Given the description of an element on the screen output the (x, y) to click on. 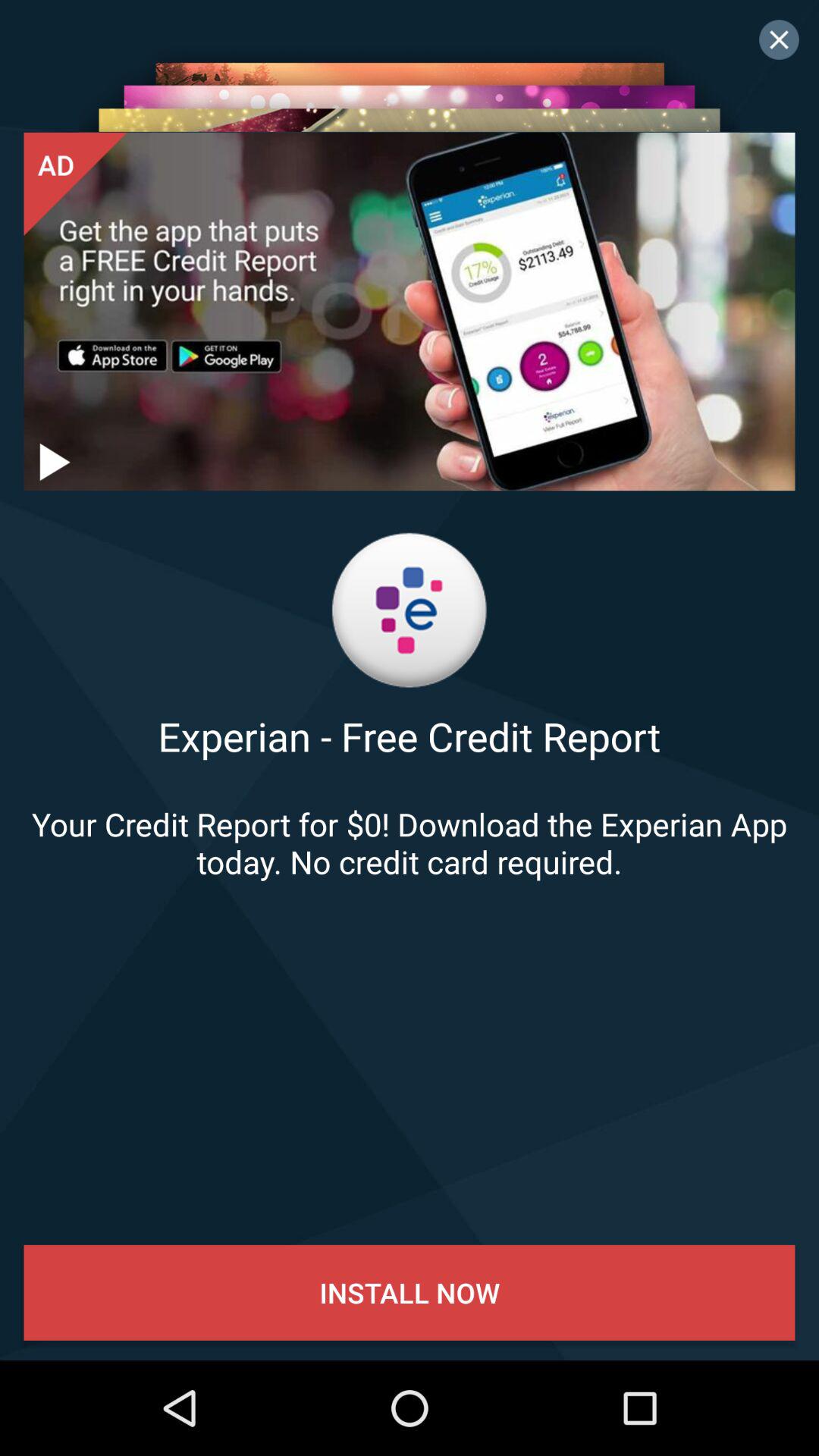
select the install now item (409, 1292)
